Given the description of an element on the screen output the (x, y) to click on. 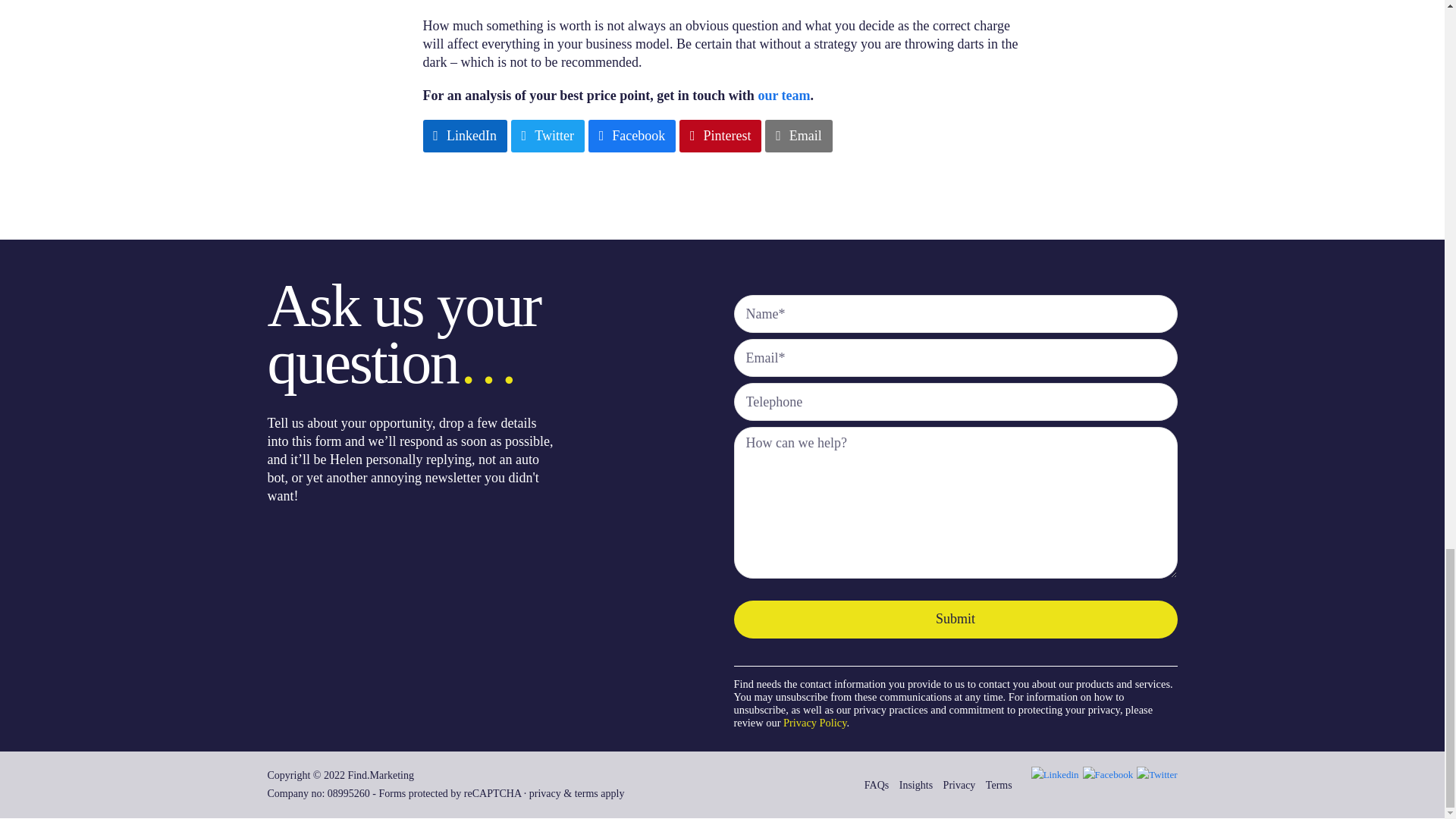
Insights (916, 785)
FAQs (876, 785)
terms (586, 793)
Submit (955, 619)
twitter (1156, 774)
Privacy (959, 785)
Twitter (548, 135)
facebook (1108, 774)
linkedin (1054, 774)
Email (798, 135)
Terms (998, 785)
Submit (955, 619)
Facebook (631, 135)
privacy (544, 793)
LinkedIn (464, 135)
